Given the description of an element on the screen output the (x, y) to click on. 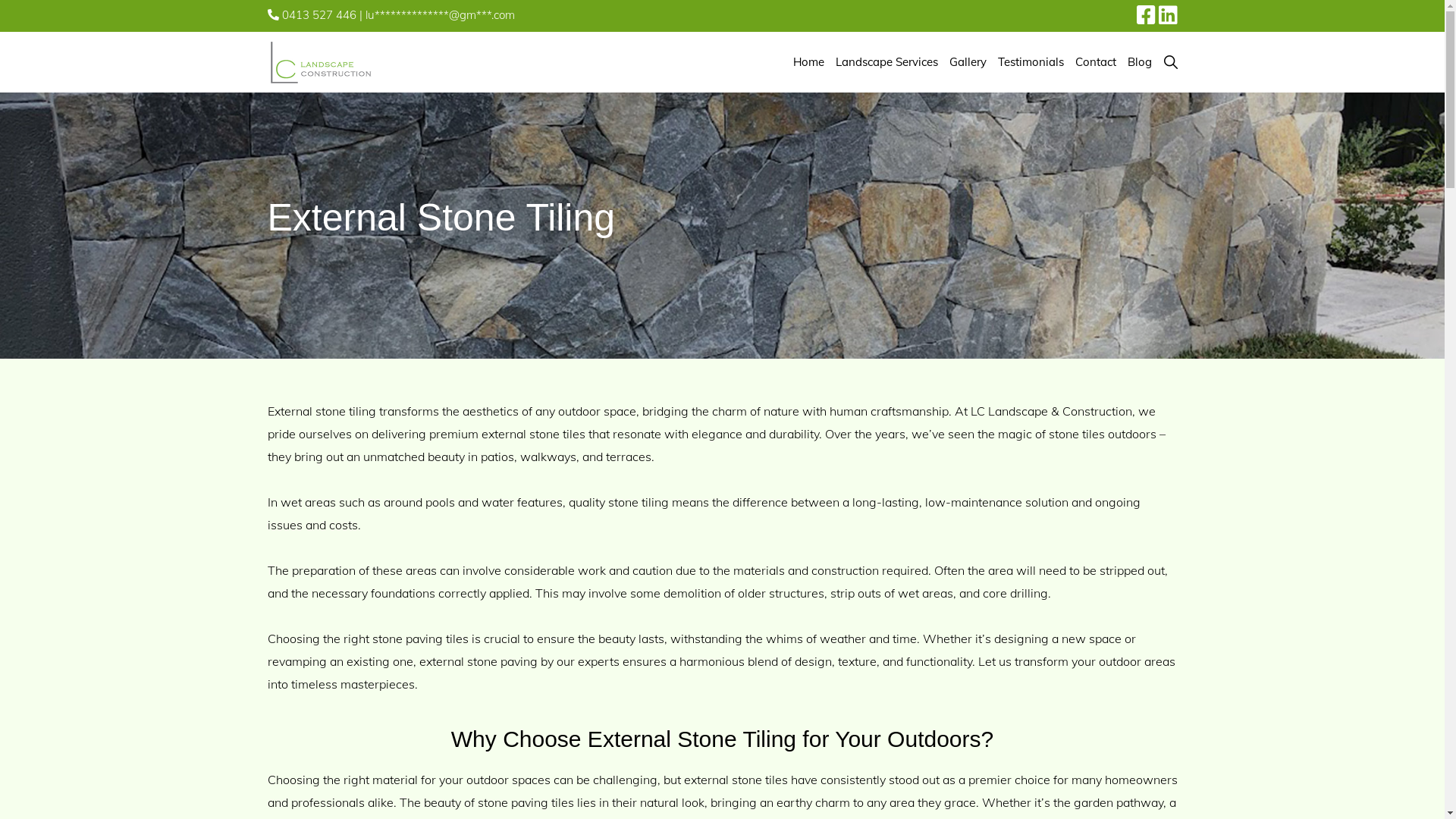
Testimonials Element type: text (1029, 61)
lu**************@gm***.com Element type: text (439, 14)
Gallery Element type: text (966, 61)
Skip to primary navigation Element type: text (0, 0)
Contact Element type: text (1094, 61)
Landscape Services Element type: text (886, 61)
Show Search Element type: text (1167, 61)
Home Element type: text (807, 61)
Blog Element type: text (1139, 61)
0413 527 446 Element type: text (310, 14)
